Given the description of an element on the screen output the (x, y) to click on. 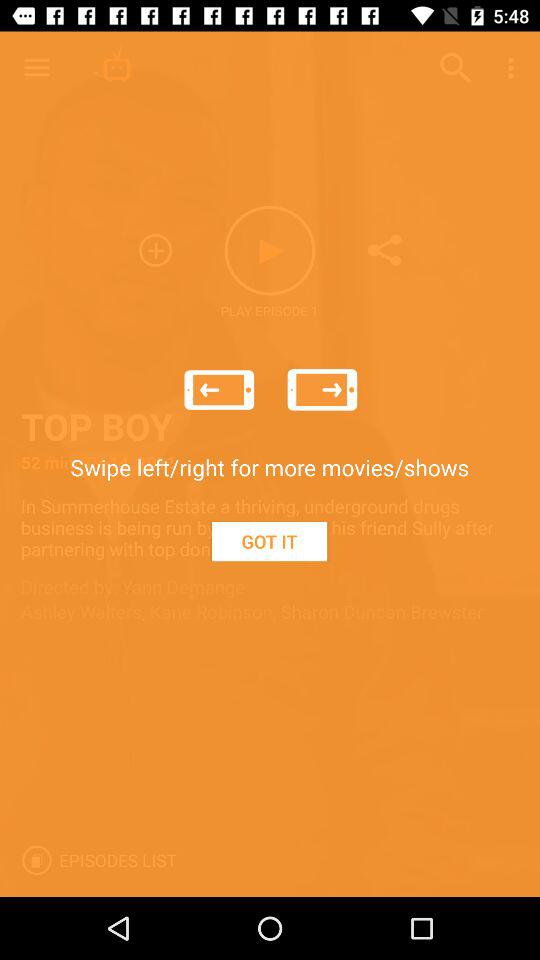
launch the got it icon (269, 541)
